Given the description of an element on the screen output the (x, y) to click on. 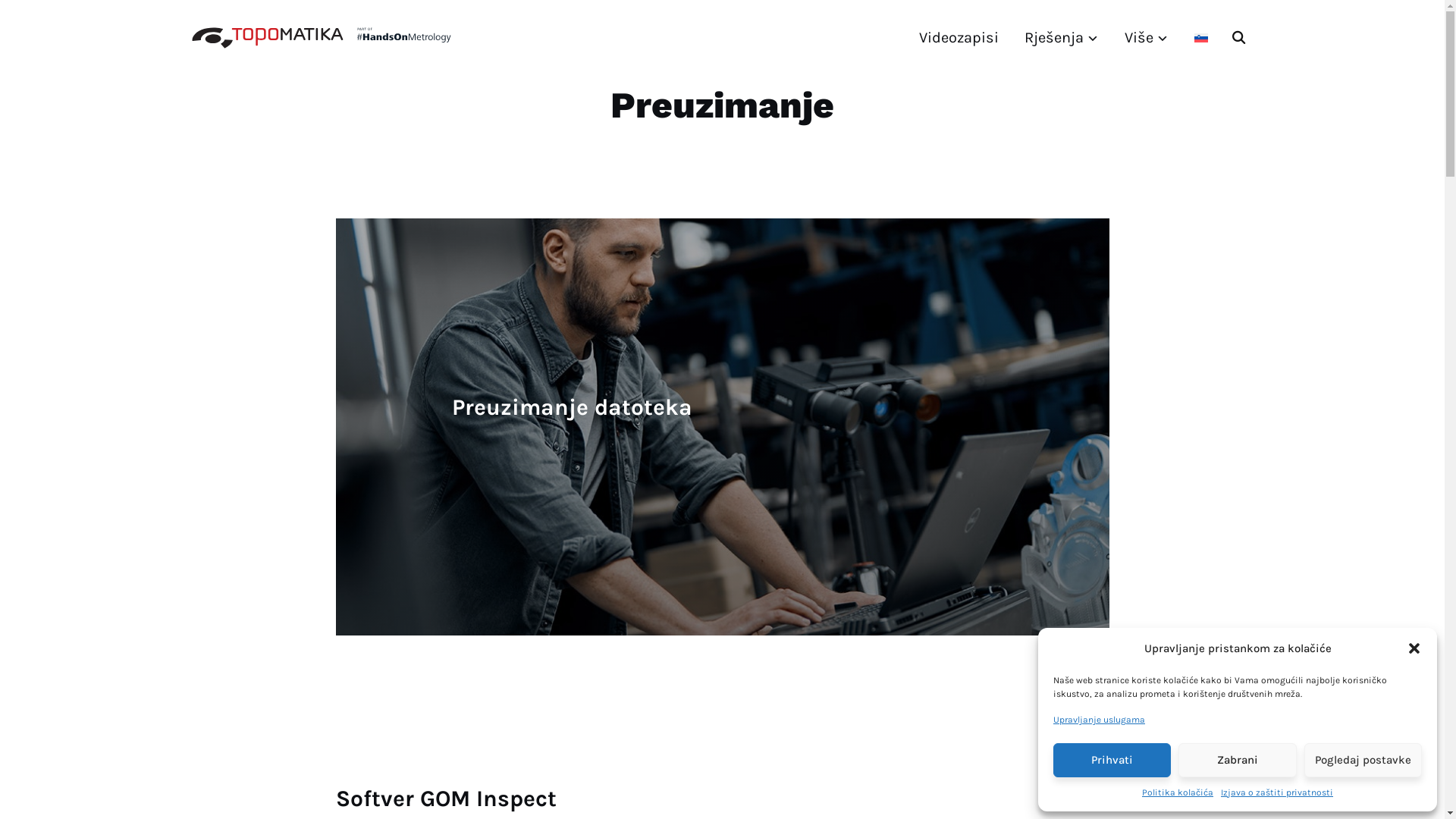
Upravljanje uslugama Element type: text (1099, 719)
Videozapisi Element type: text (958, 37)
Pogledaj postavke Element type: text (1362, 760)
Search Element type: text (15, 15)
Zabrani Element type: text (1236, 760)
Prihvati Element type: text (1111, 760)
